Given the description of an element on the screen output the (x, y) to click on. 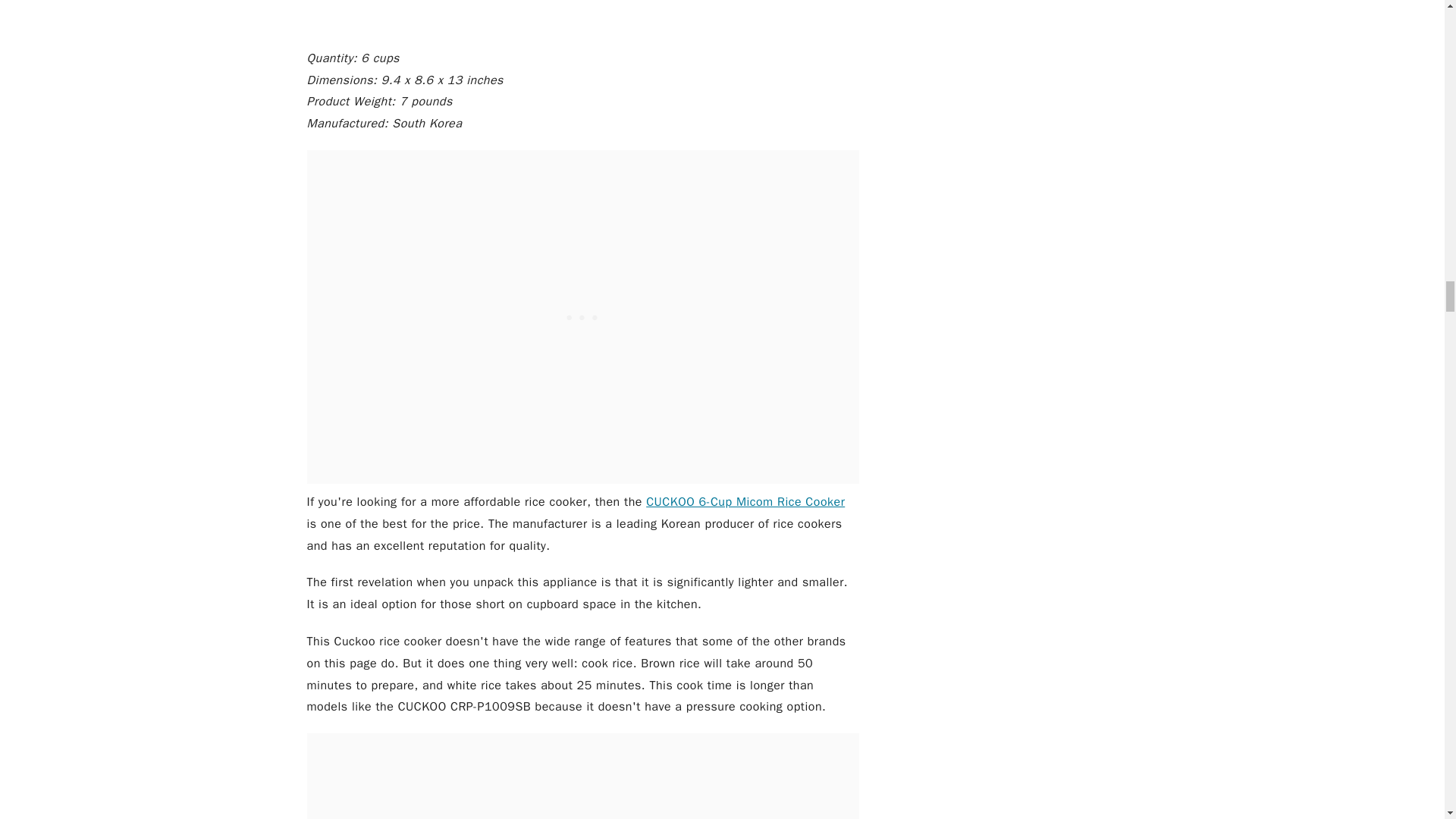
CUCKOO 6-Cup Micom Rice Cooker (745, 501)
